Given the description of an element on the screen output the (x, y) to click on. 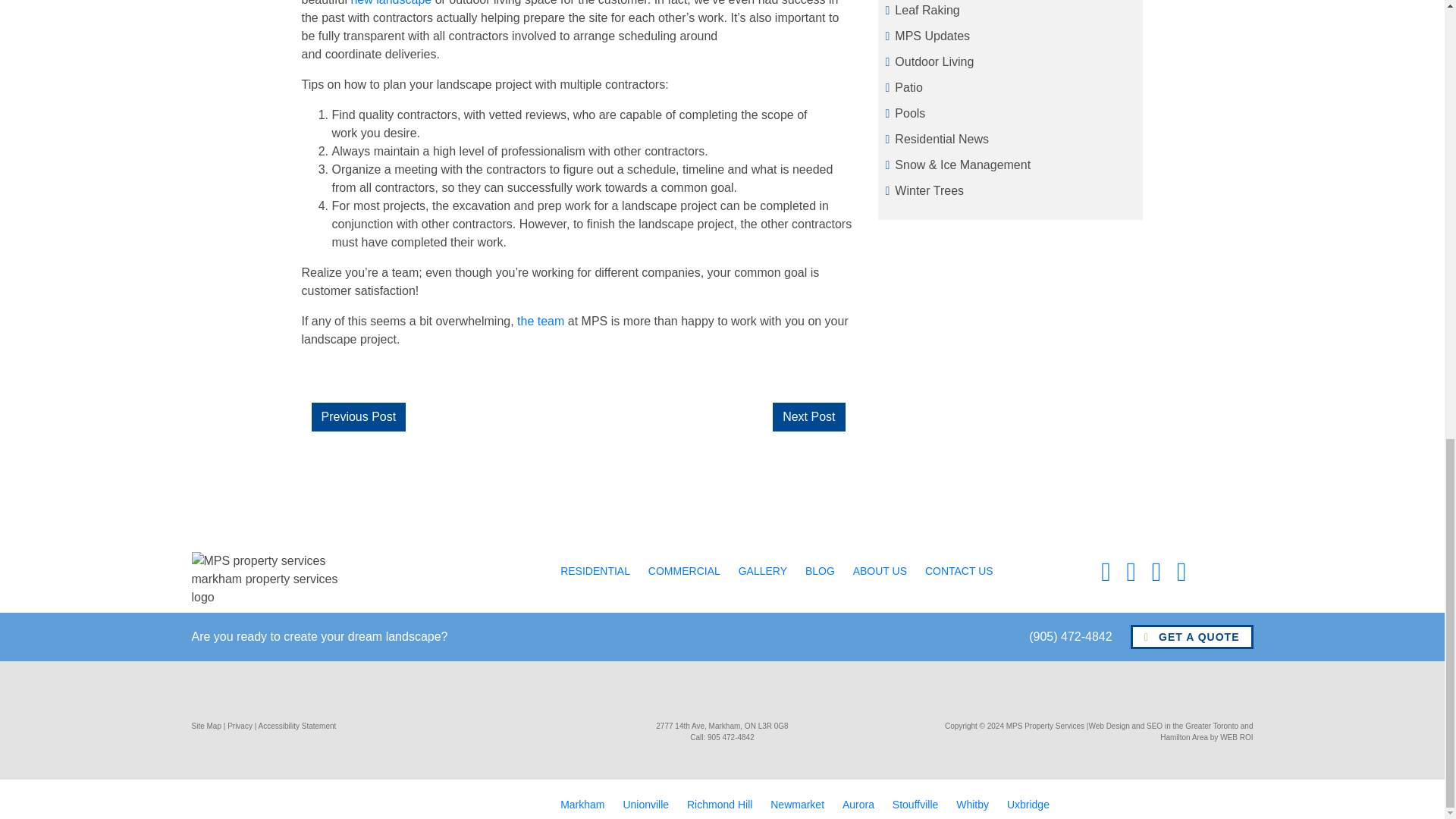
new landscape (390, 2)
Web Design and SEO by WEB ROI (1169, 731)
Previous Post (358, 416)
the team (540, 320)
